Given the description of an element on the screen output the (x, y) to click on. 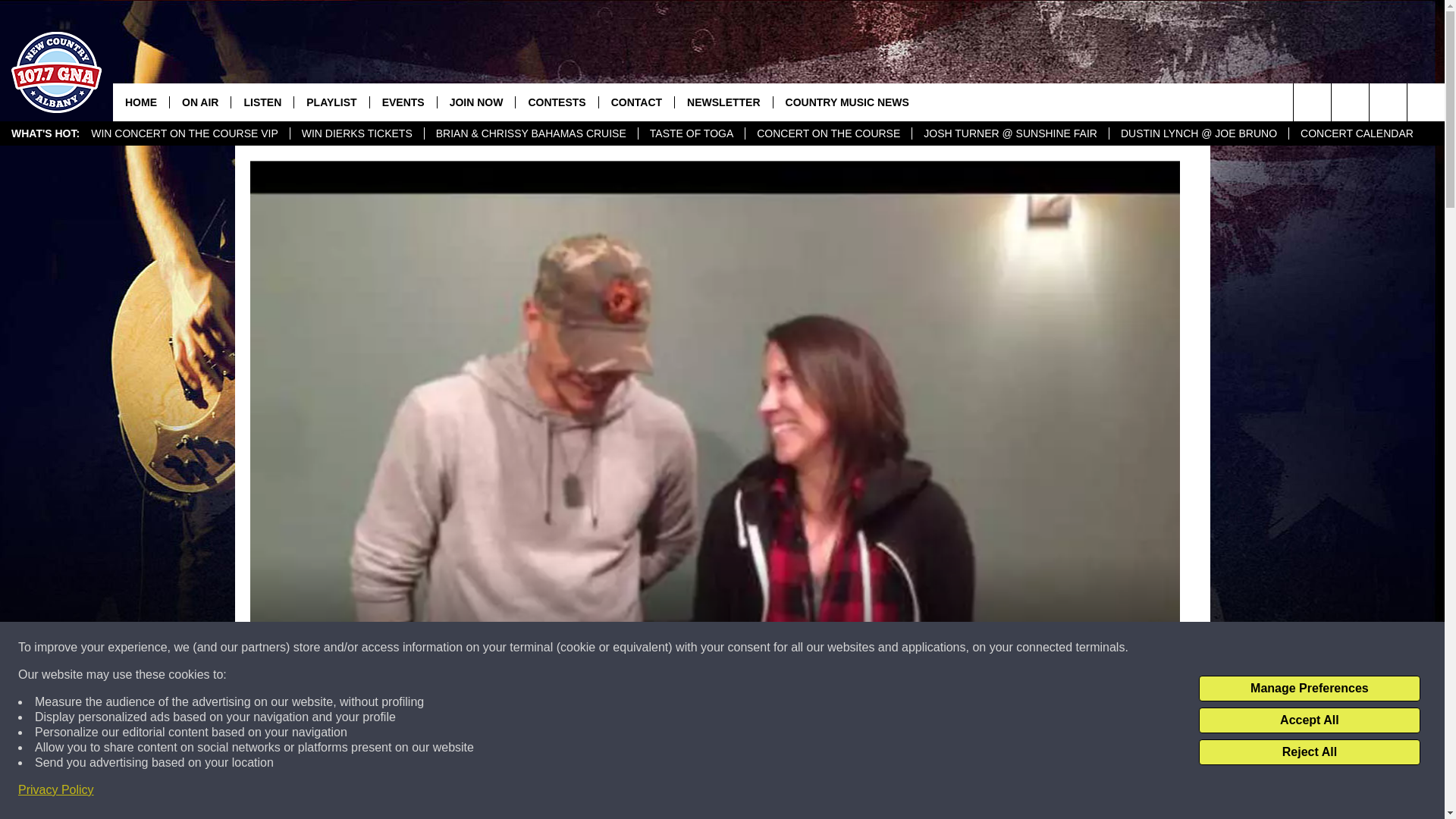
EVENTS (402, 102)
Privacy Policy (55, 789)
Reject All (1309, 751)
PLAYLIST (331, 102)
Manage Preferences (1309, 688)
TASTE OF TOGA (690, 133)
Share on Facebook (517, 791)
Accept All (1309, 720)
Share on Twitter (912, 791)
CONCERT ON THE COURSE (827, 133)
WIN CONCERT ON THE COURSE VIP (184, 133)
LISTEN (262, 102)
WIN DIERKS TICKETS (356, 133)
CONCERT CALENDAR (1356, 133)
ON AIR (199, 102)
